Given the description of an element on the screen output the (x, y) to click on. 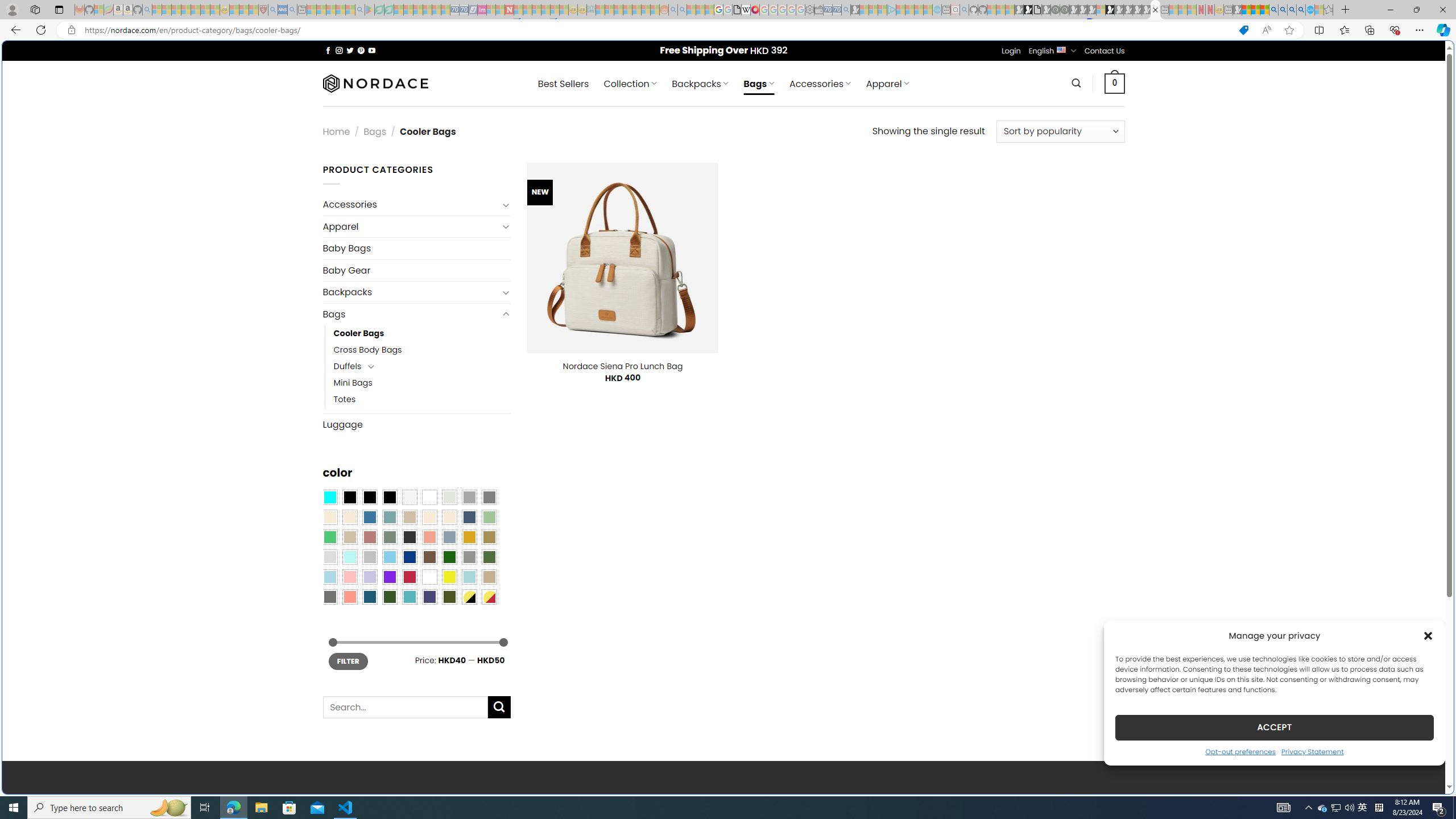
Coral (429, 536)
Emerald Green (329, 536)
Cooler Bags (358, 333)
Capri Blue (369, 596)
English (1061, 49)
